Given the description of an element on the screen output the (x, y) to click on. 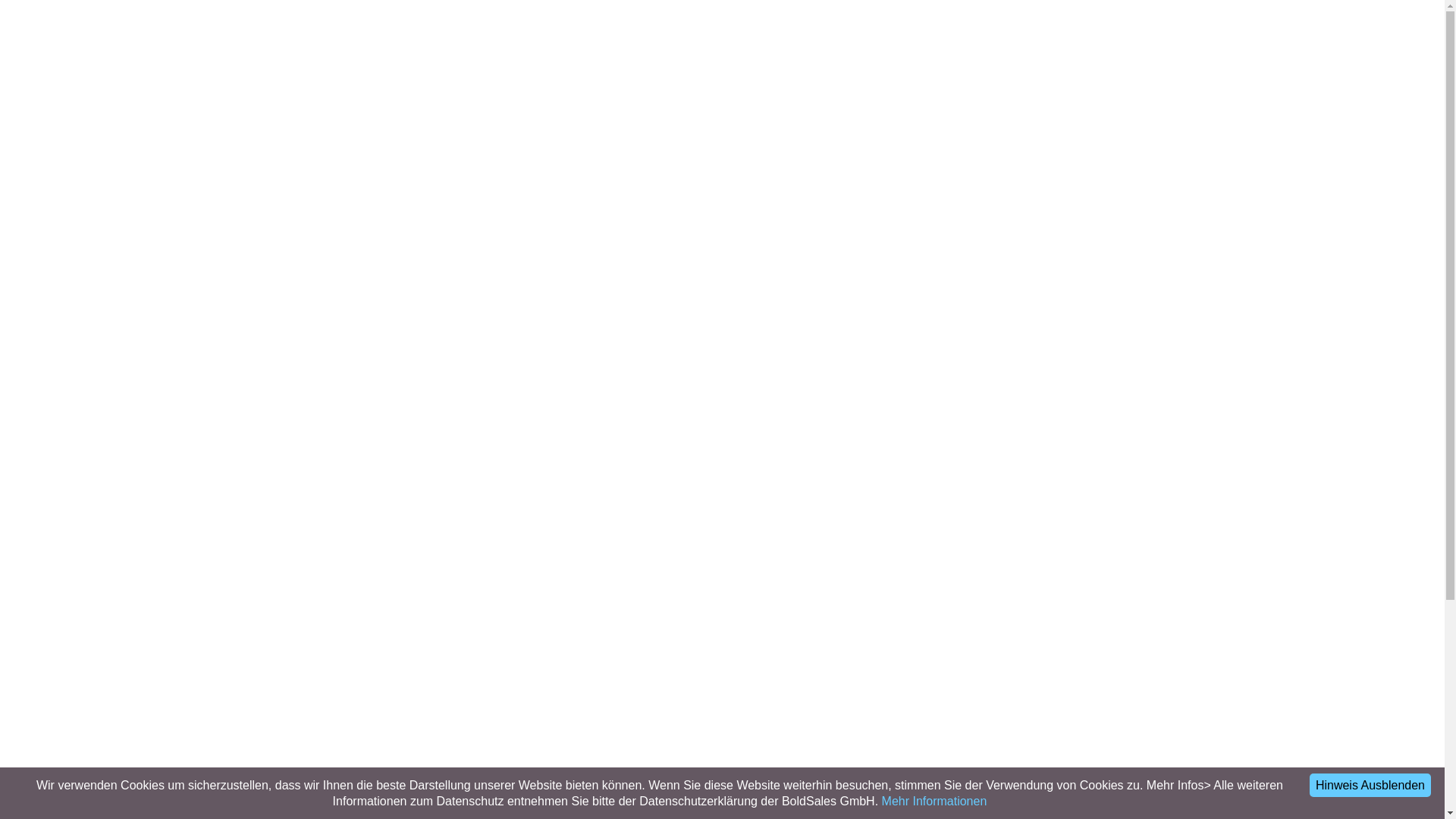
Mehr Informationen Element type: text (934, 800)
